Given the description of an element on the screen output the (x, y) to click on. 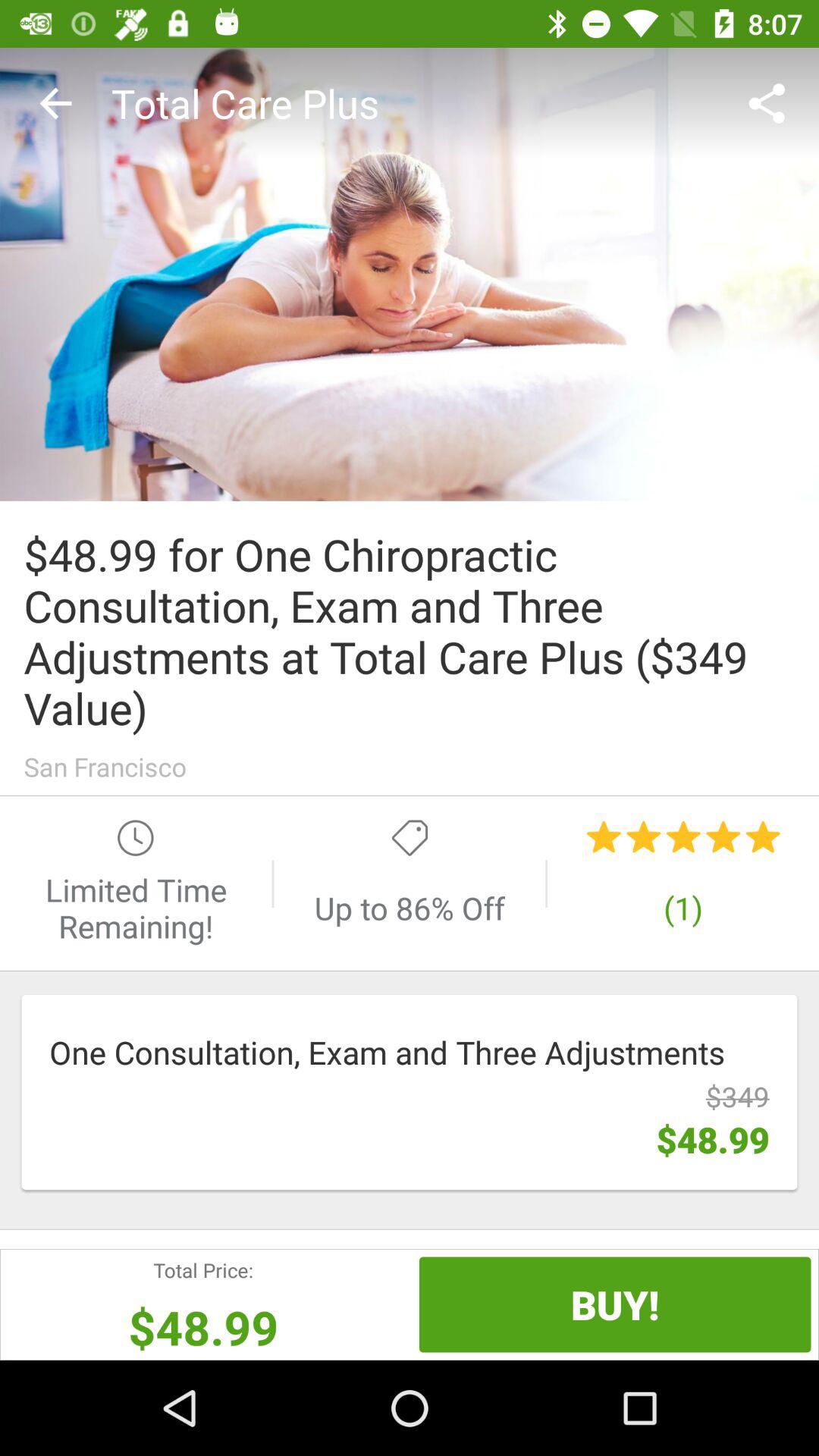
turn on item below 48 99 for (409, 766)
